Given the description of an element on the screen output the (x, y) to click on. 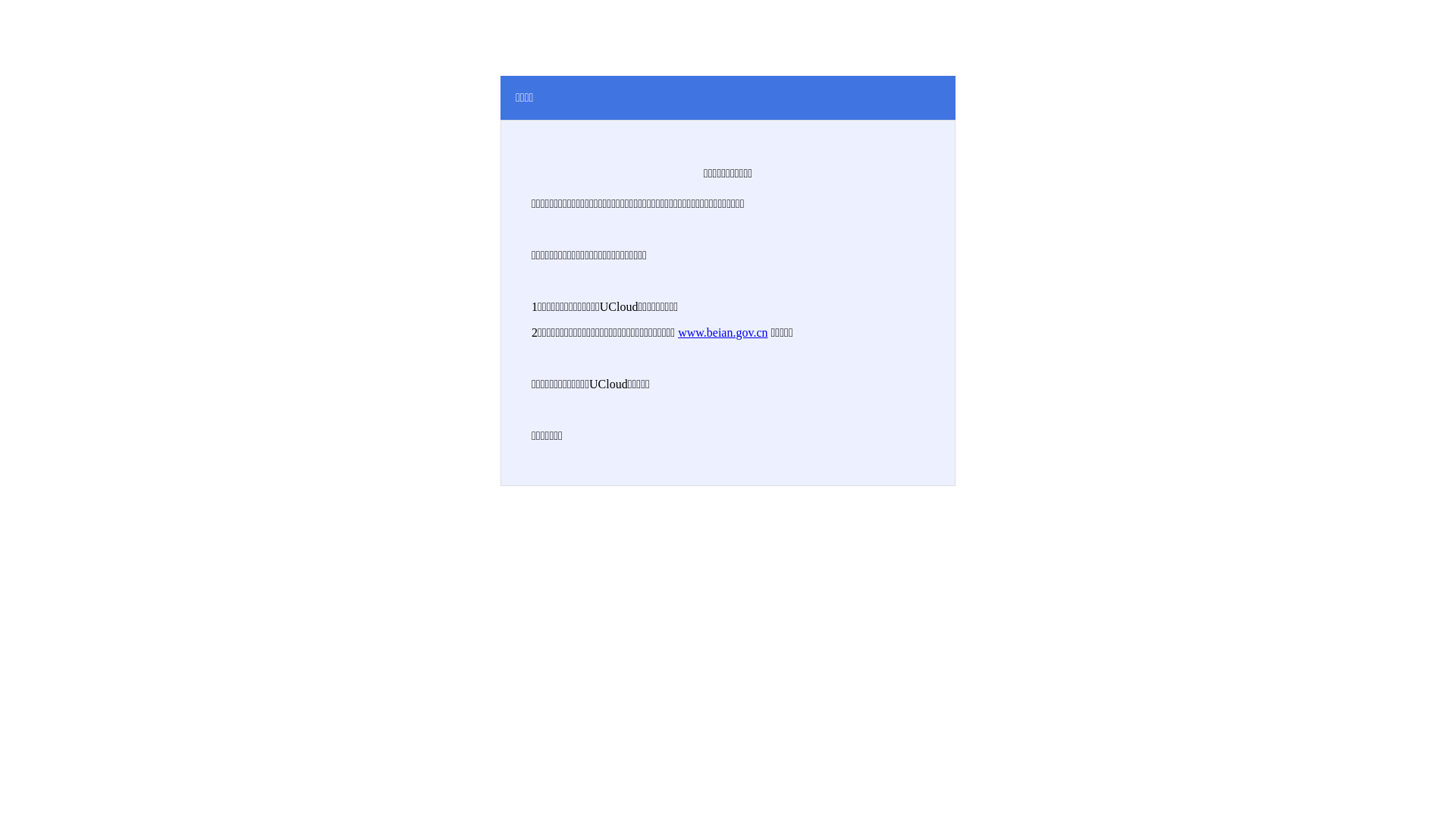
www.beian.gov.cn Element type: text (722, 332)
